Given the description of an element on the screen output the (x, y) to click on. 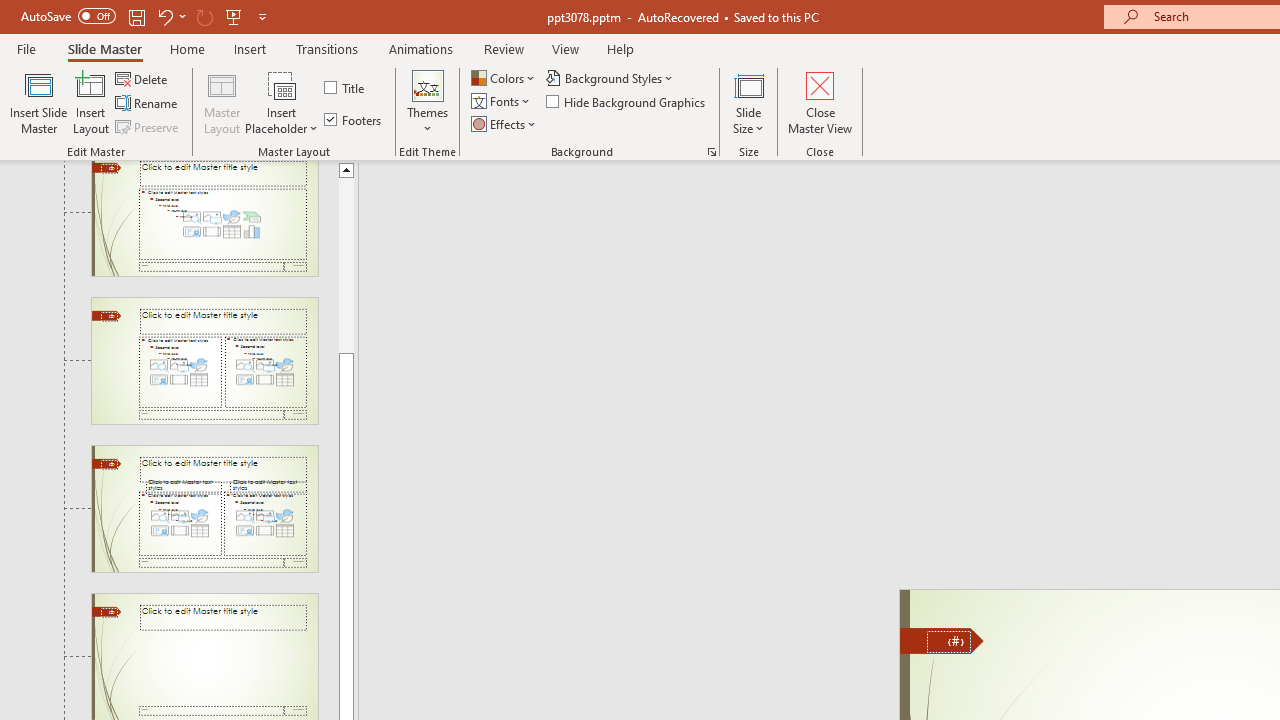
Colors (504, 78)
Slide Master (104, 48)
